Given the description of an element on the screen output the (x, y) to click on. 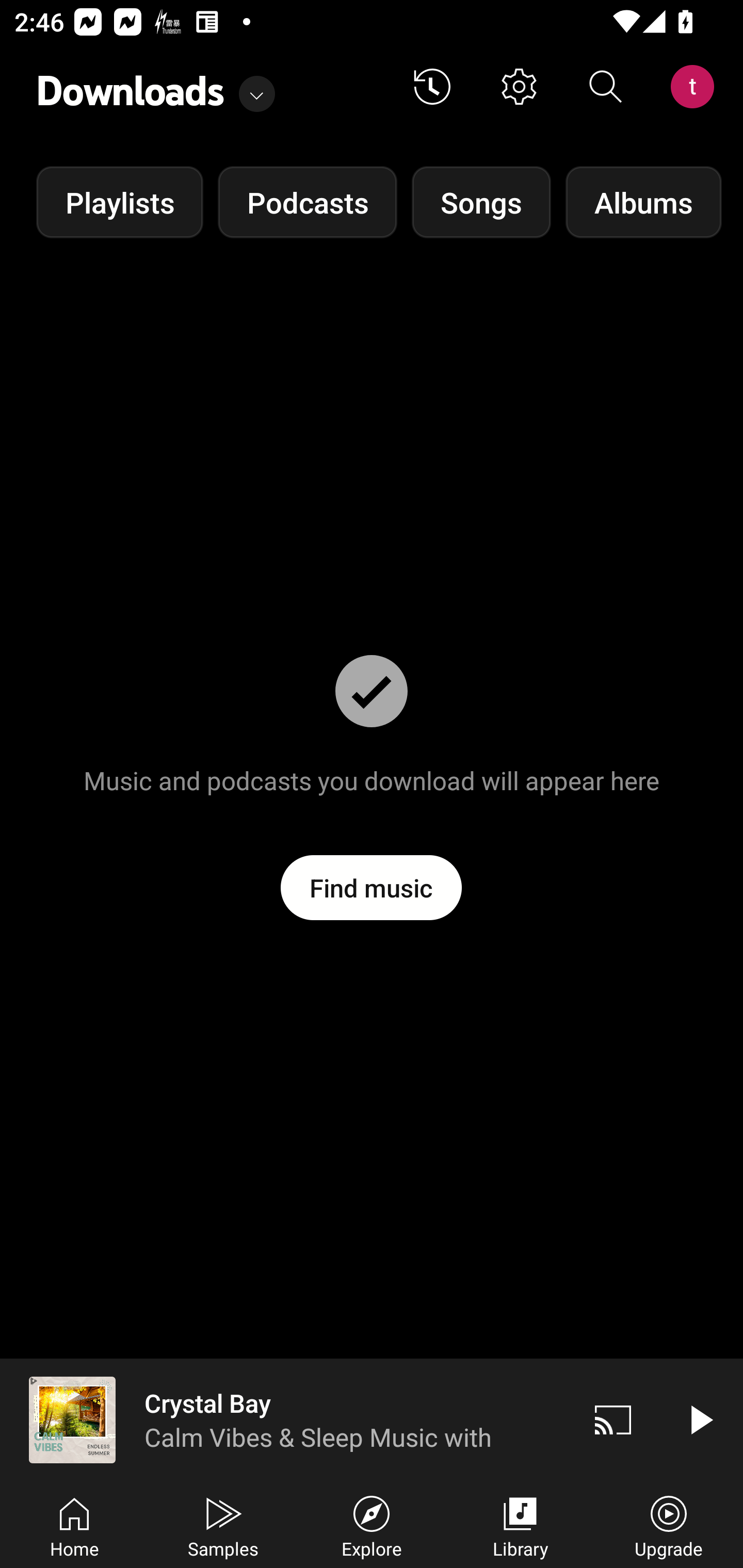
Show downloads selected Downloads (155, 86)
History (432, 86)
Downloads settings (518, 86)
Search (605, 86)
Account (696, 86)
Find music (371, 887)
Cast. Disconnected (612, 1419)
Play video (699, 1419)
Home (74, 1524)
Samples (222, 1524)
Explore (371, 1524)
Upgrade (668, 1524)
